Given the description of an element on the screen output the (x, y) to click on. 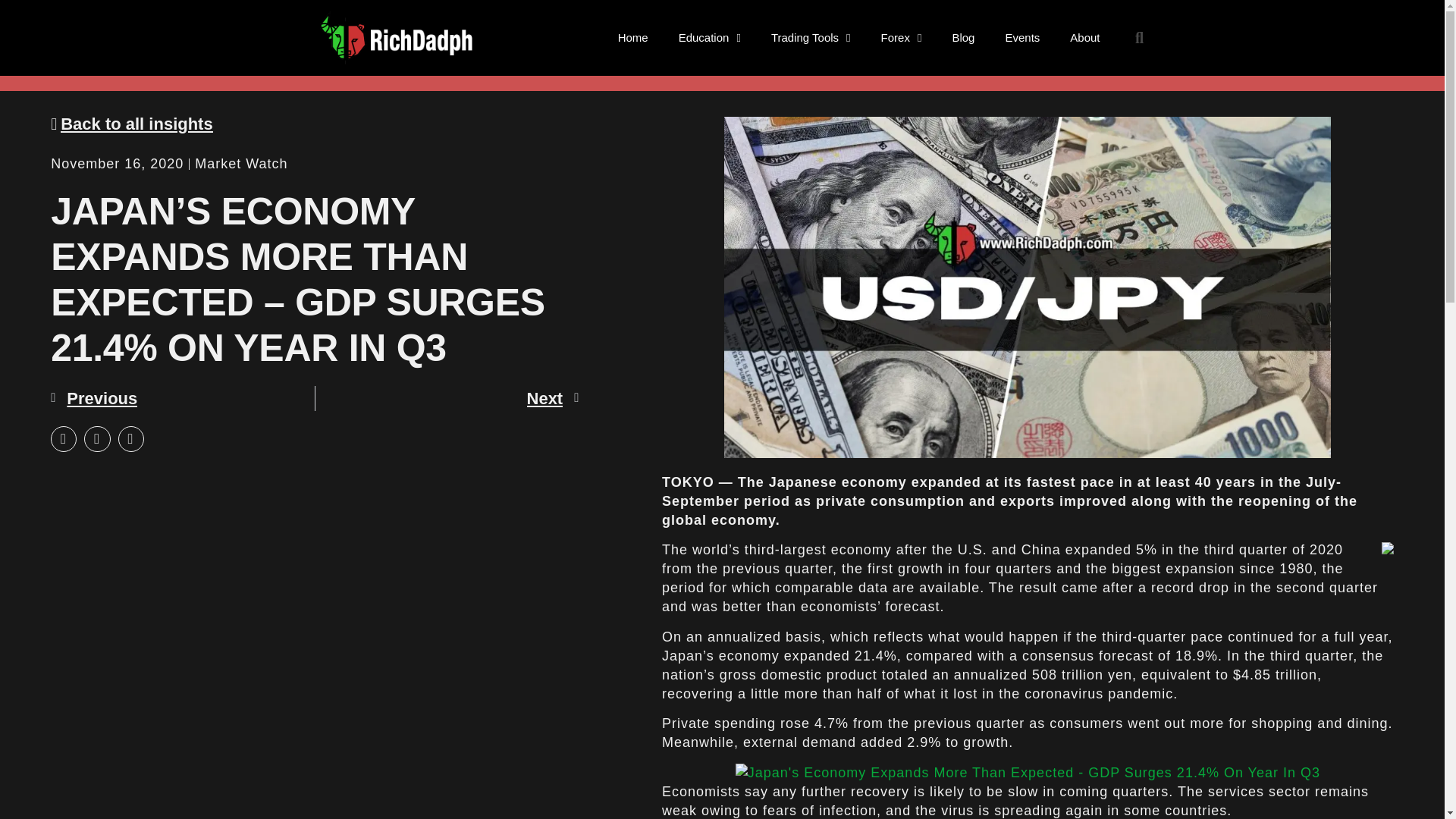
Education (709, 38)
Forex (901, 38)
Trading Tools (810, 38)
